Given the description of an element on the screen output the (x, y) to click on. 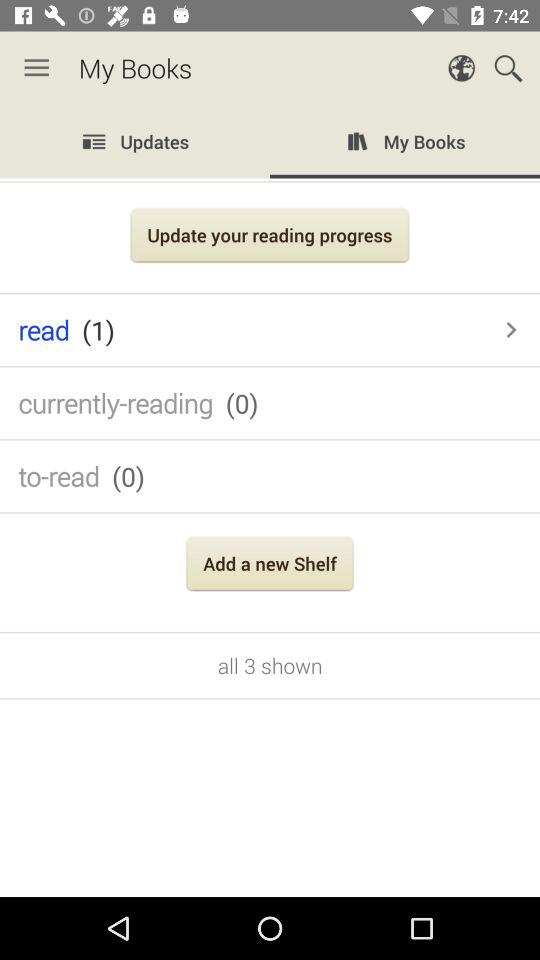
launch the add a new icon (269, 565)
